Given the description of an element on the screen output the (x, y) to click on. 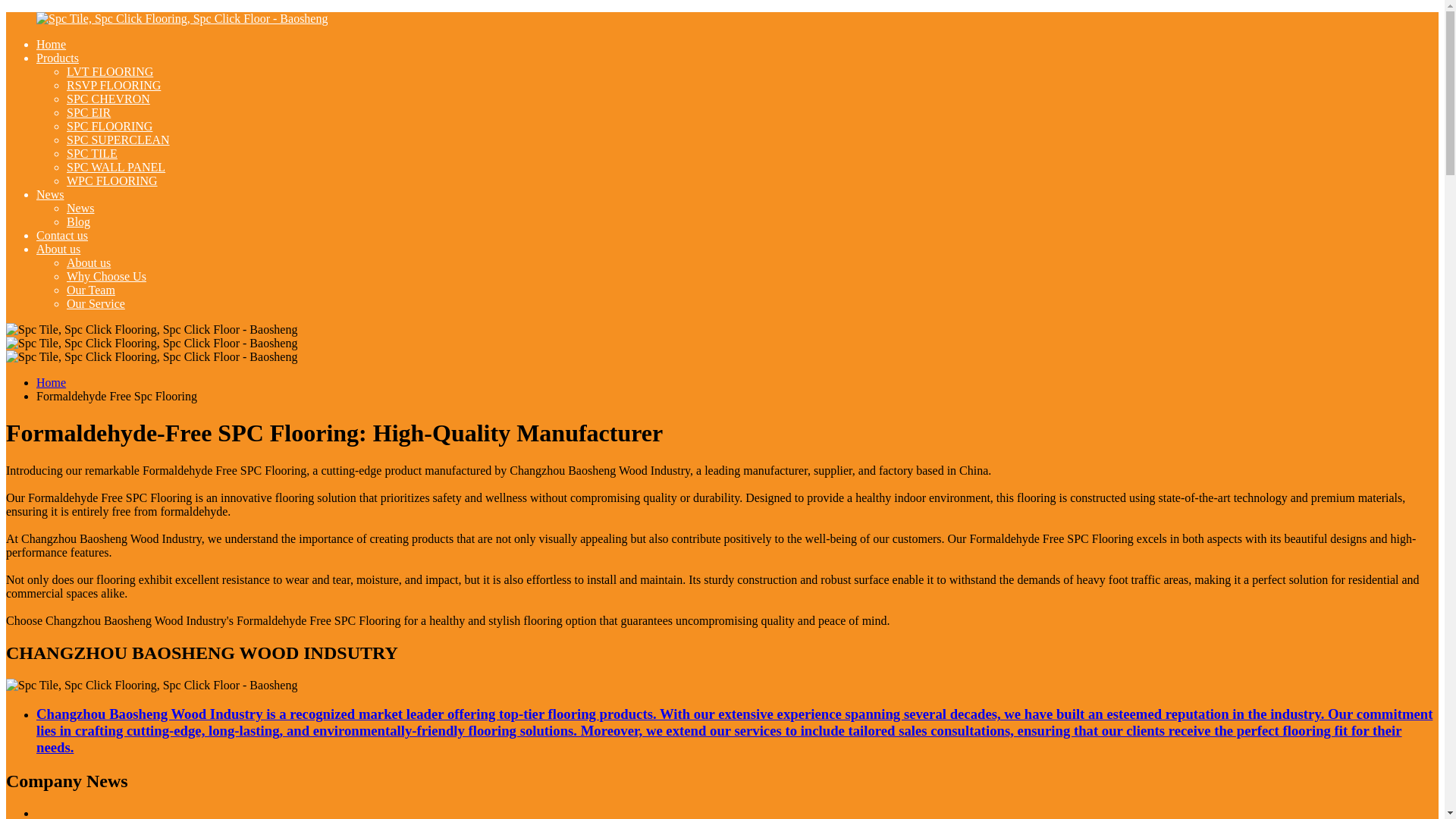
Products (57, 57)
About us (58, 248)
Blog (78, 221)
LVT FLOORING (109, 71)
Contact us (61, 235)
Our Service (95, 303)
SPC EIR (88, 112)
Why Choose Us (106, 276)
About us (88, 262)
RSVP FLOORING (113, 84)
